Given the description of an element on the screen output the (x, y) to click on. 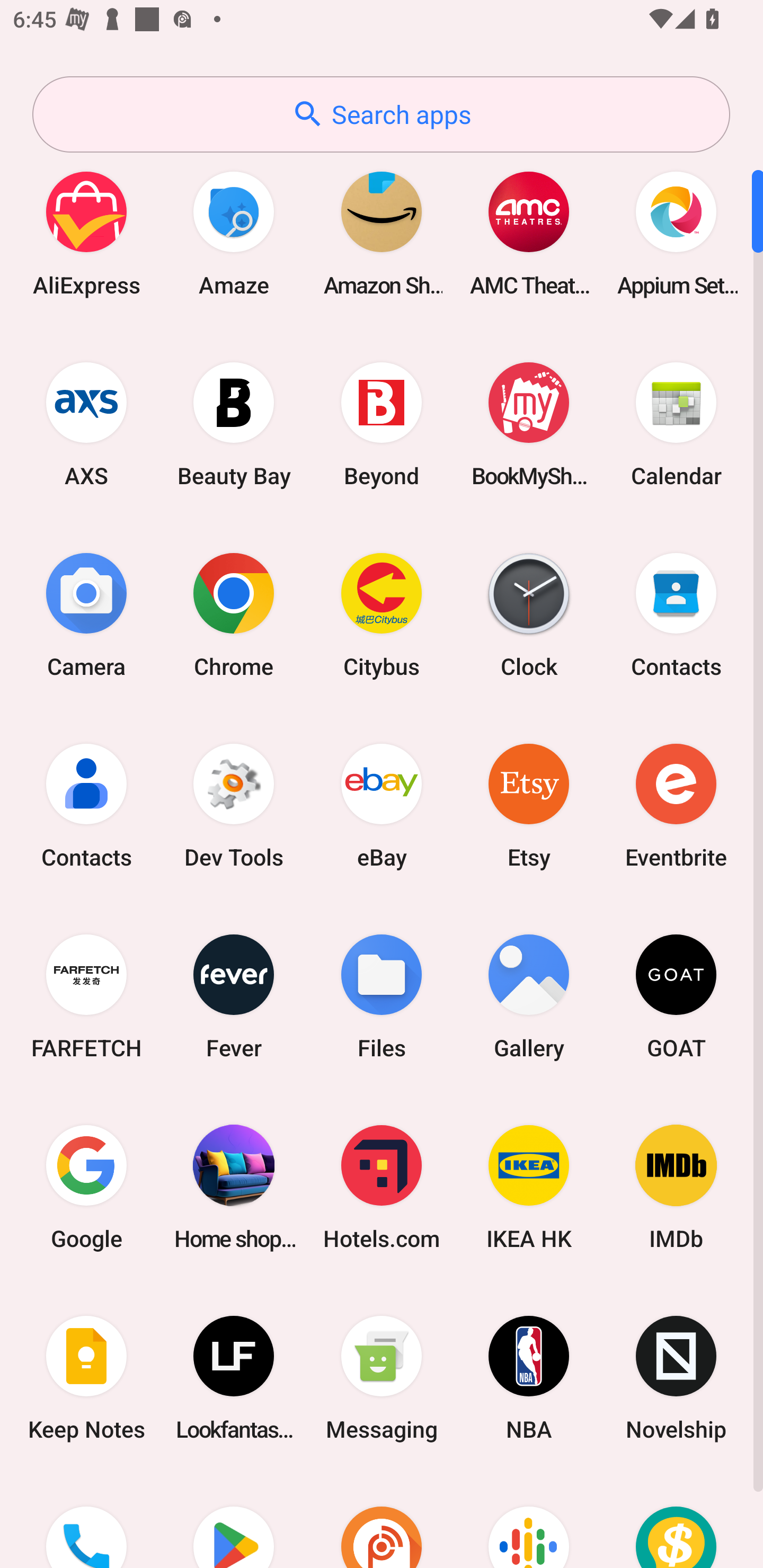
  Search apps (381, 114)
AliExpress (86, 233)
Amaze (233, 233)
Amazon Shopping (381, 233)
AMC Theatres (528, 233)
Appium Settings (676, 233)
AXS (86, 424)
Beauty Bay (233, 424)
Beyond (381, 424)
BookMyShow (528, 424)
Calendar (676, 424)
Camera (86, 614)
Chrome (233, 614)
Citybus (381, 614)
Clock (528, 614)
Contacts (676, 614)
Contacts (86, 805)
Dev Tools (233, 805)
eBay (381, 805)
Etsy (528, 805)
Eventbrite (676, 805)
FARFETCH (86, 996)
Fever (233, 996)
Files (381, 996)
Gallery (528, 996)
GOAT (676, 996)
Google (86, 1186)
Home shopping (233, 1186)
Hotels.com (381, 1186)
IKEA HK (528, 1186)
IMDb (676, 1186)
Keep Notes (86, 1377)
Lookfantastic (233, 1377)
Messaging (381, 1377)
NBA (528, 1377)
Novelship (676, 1377)
Phone (86, 1520)
Play Store (233, 1520)
Podcast Addict (381, 1520)
Podcasts (528, 1520)
Price (676, 1520)
